Given the description of an element on the screen output the (x, y) to click on. 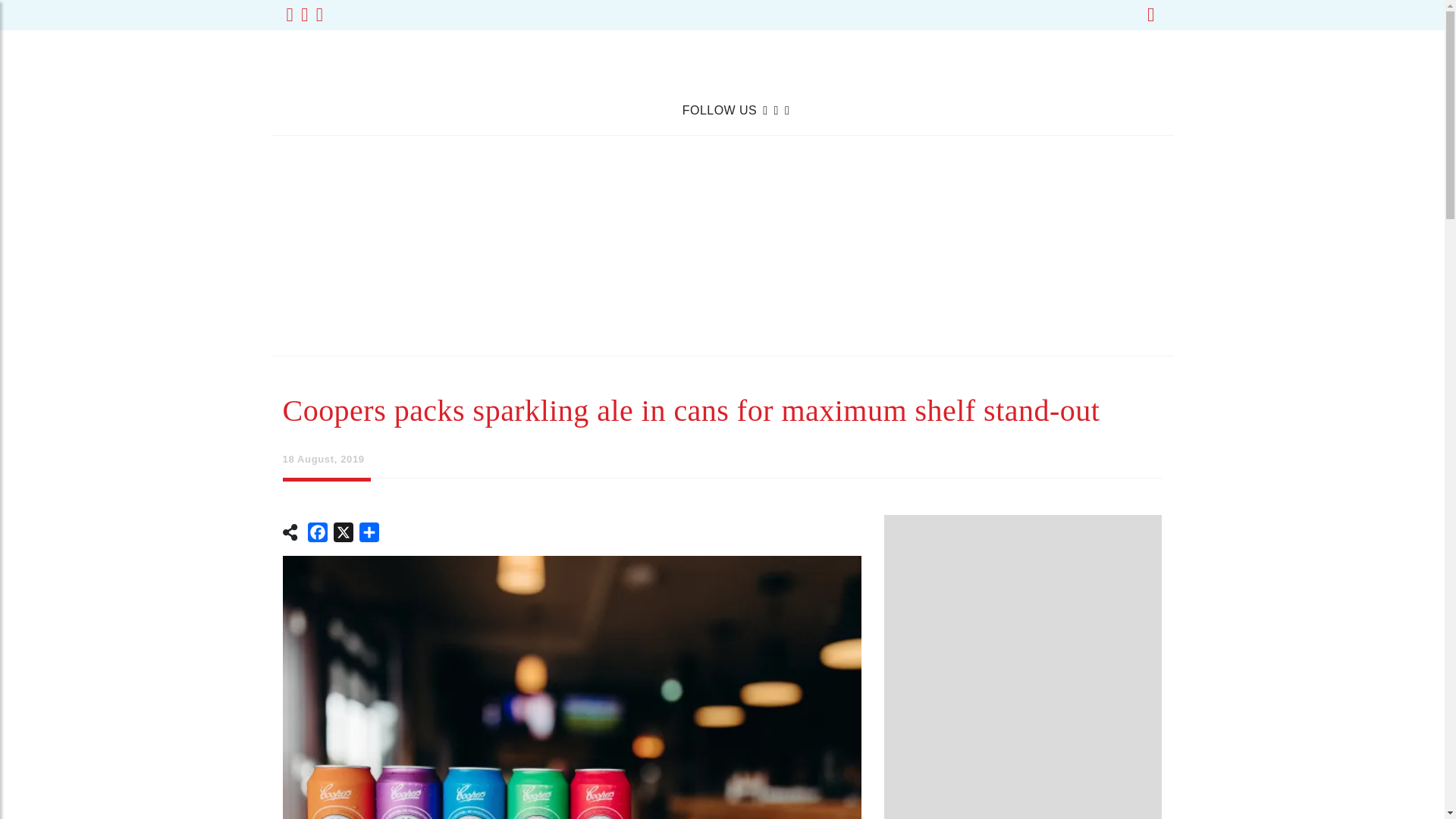
Facebook (317, 534)
X (343, 534)
X (343, 534)
Share (368, 534)
Facebook (317, 534)
